Given the description of an element on the screen output the (x, y) to click on. 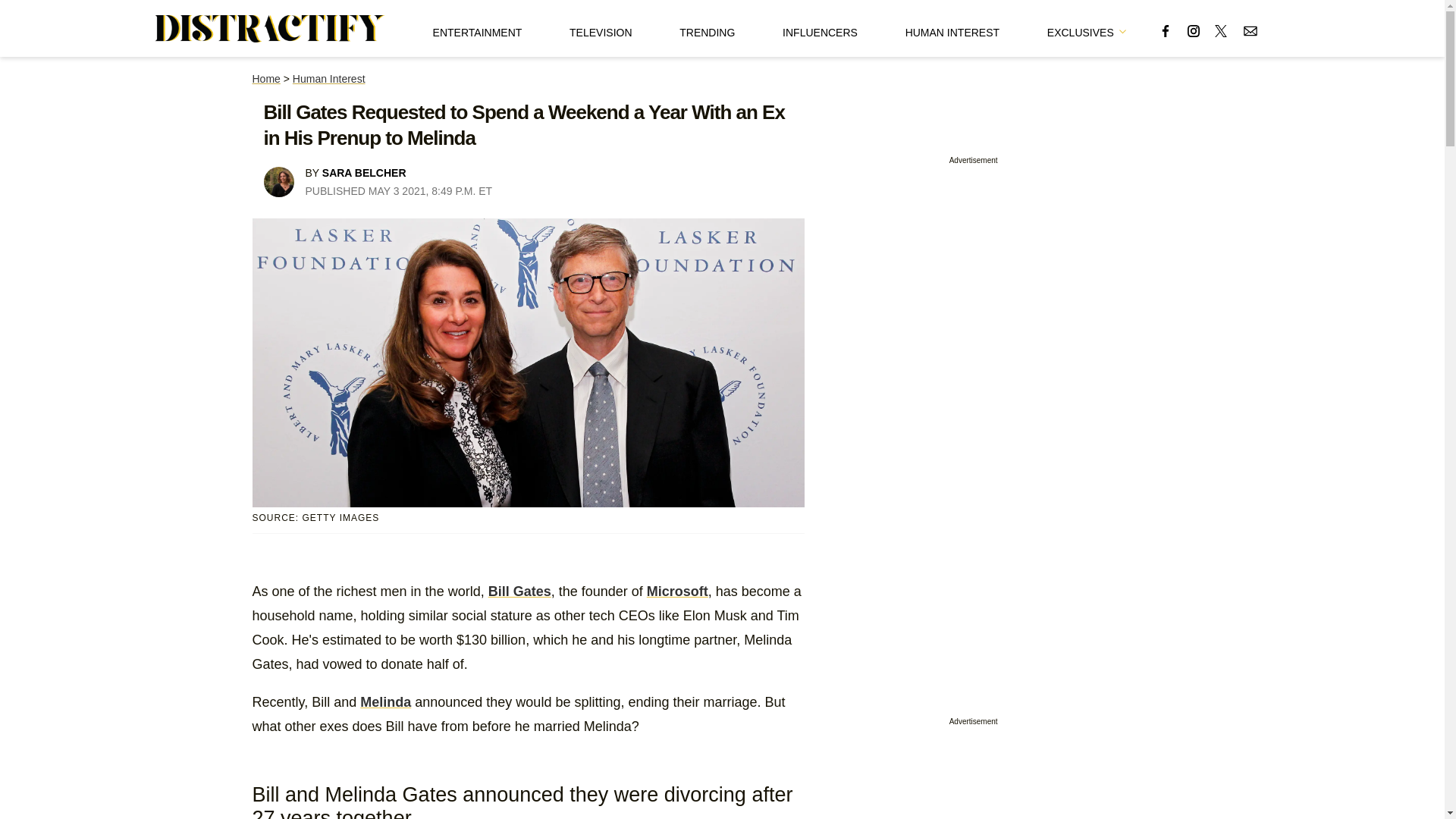
Melinda (384, 702)
TRENDING (707, 27)
Human Interest (328, 78)
Bill Gates (519, 590)
INFLUENCERS (820, 27)
Microsoft (676, 590)
TELEVISION (600, 27)
ENTERTAINMENT (477, 27)
LINK TO FACEBOOK (1165, 30)
LINK TO X (1220, 30)
LINK TO INSTAGRAM (1193, 30)
HUMAN INTEREST (951, 27)
LINK TO EMAIL SUBSCRIBE (1250, 30)
Home (265, 78)
SARA BELCHER (363, 173)
